Given the description of an element on the screen output the (x, y) to click on. 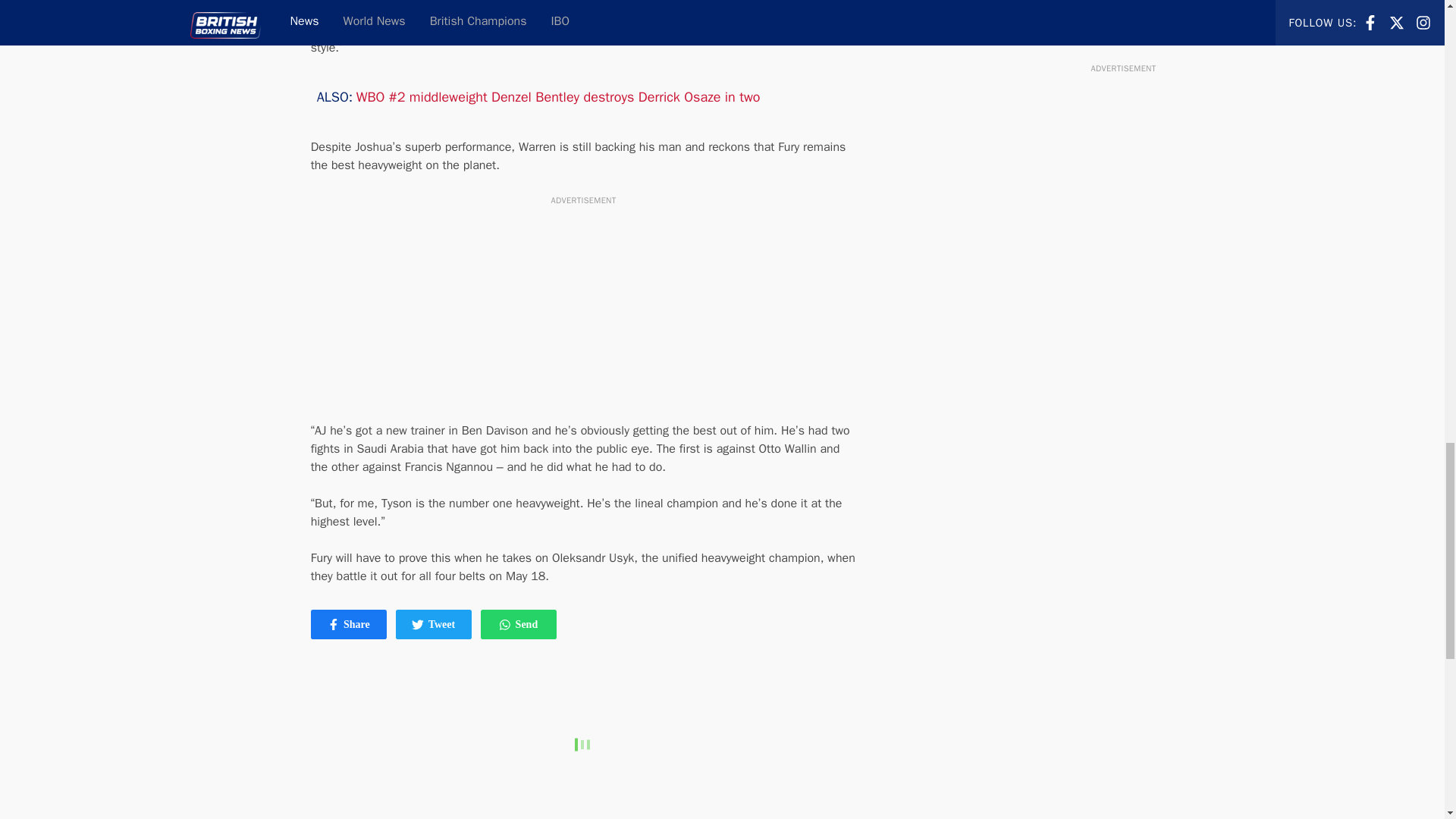
WhatsApp (349, 624)
Facebook (518, 624)
Twitter (505, 624)
